Given the description of an element on the screen output the (x, y) to click on. 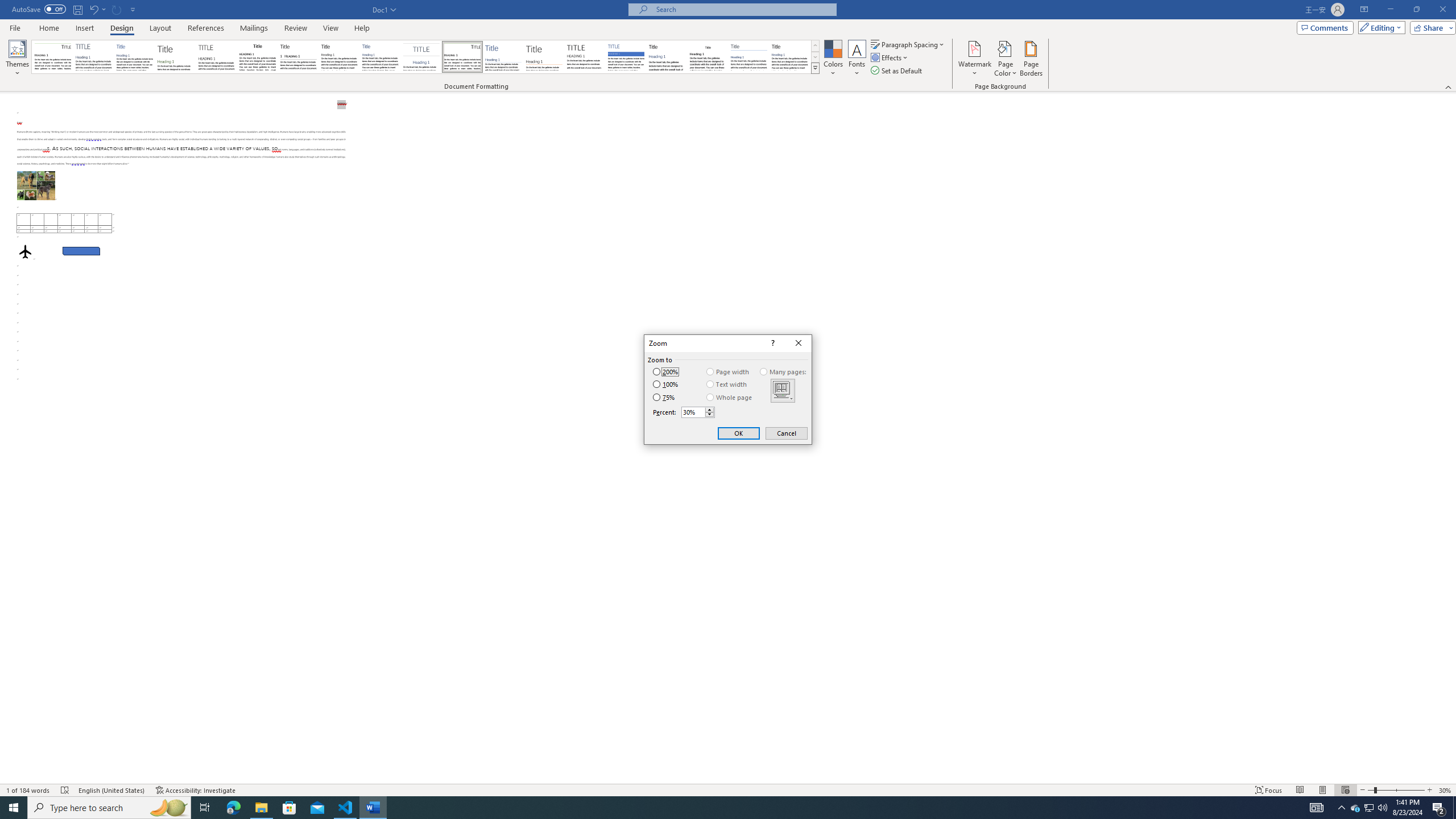
Colors (832, 58)
Word - 1 running window (373, 807)
Centered (421, 56)
